Given the description of an element on the screen output the (x, y) to click on. 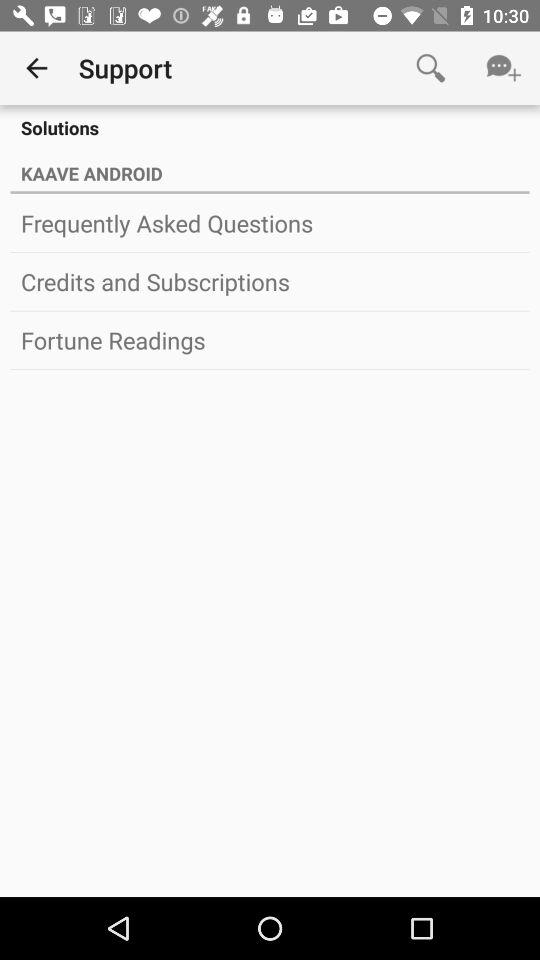
open the icon below credits and subscriptions item (269, 340)
